Given the description of an element on the screen output the (x, y) to click on. 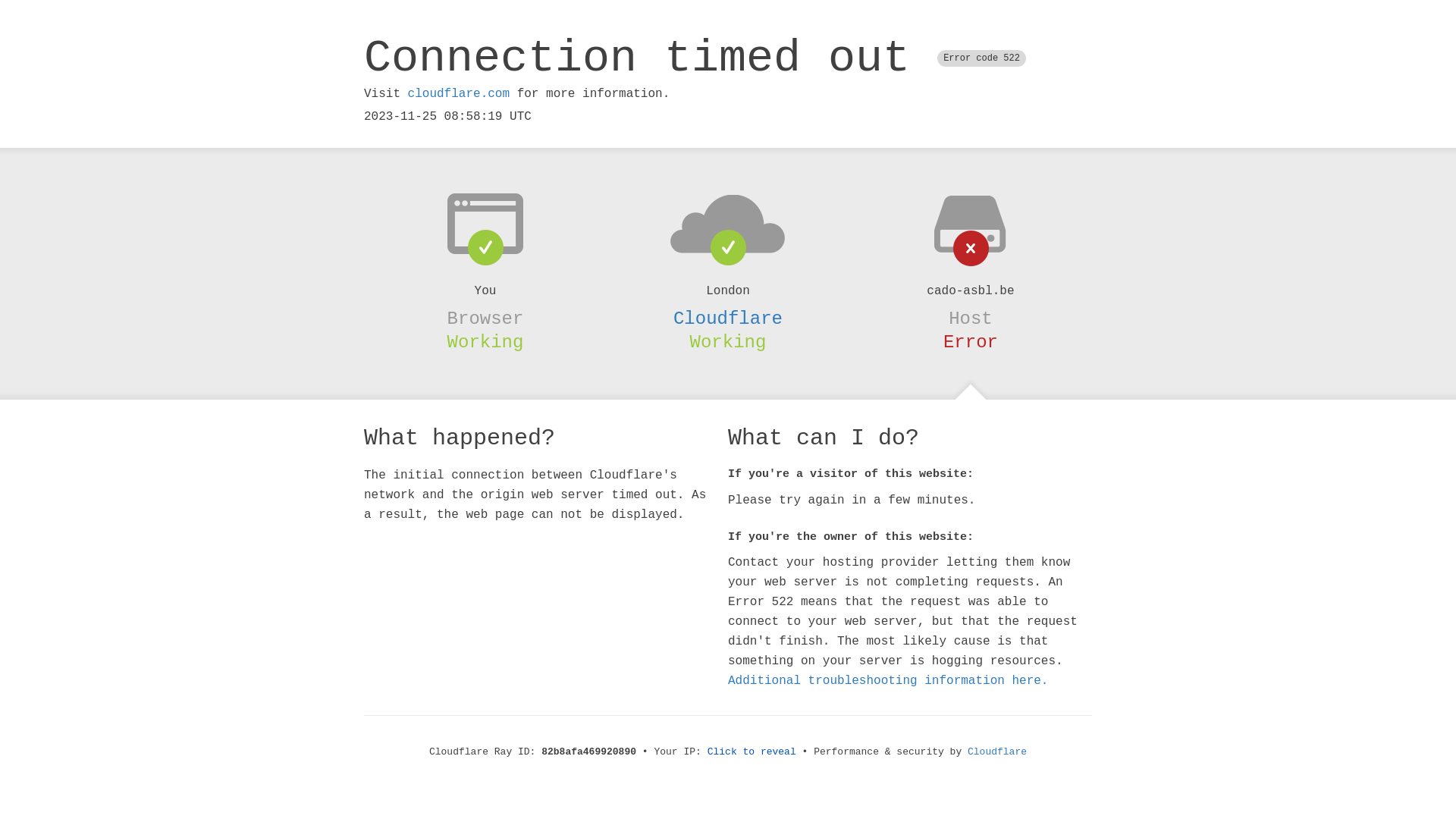
Cloudflare Element type: text (996, 751)
Additional troubleshooting information here. Element type: text (888, 680)
Click to reveal Element type: text (751, 751)
Cloudflare Element type: text (727, 318)
cloudflare.com Element type: text (458, 93)
